Given the description of an element on the screen output the (x, y) to click on. 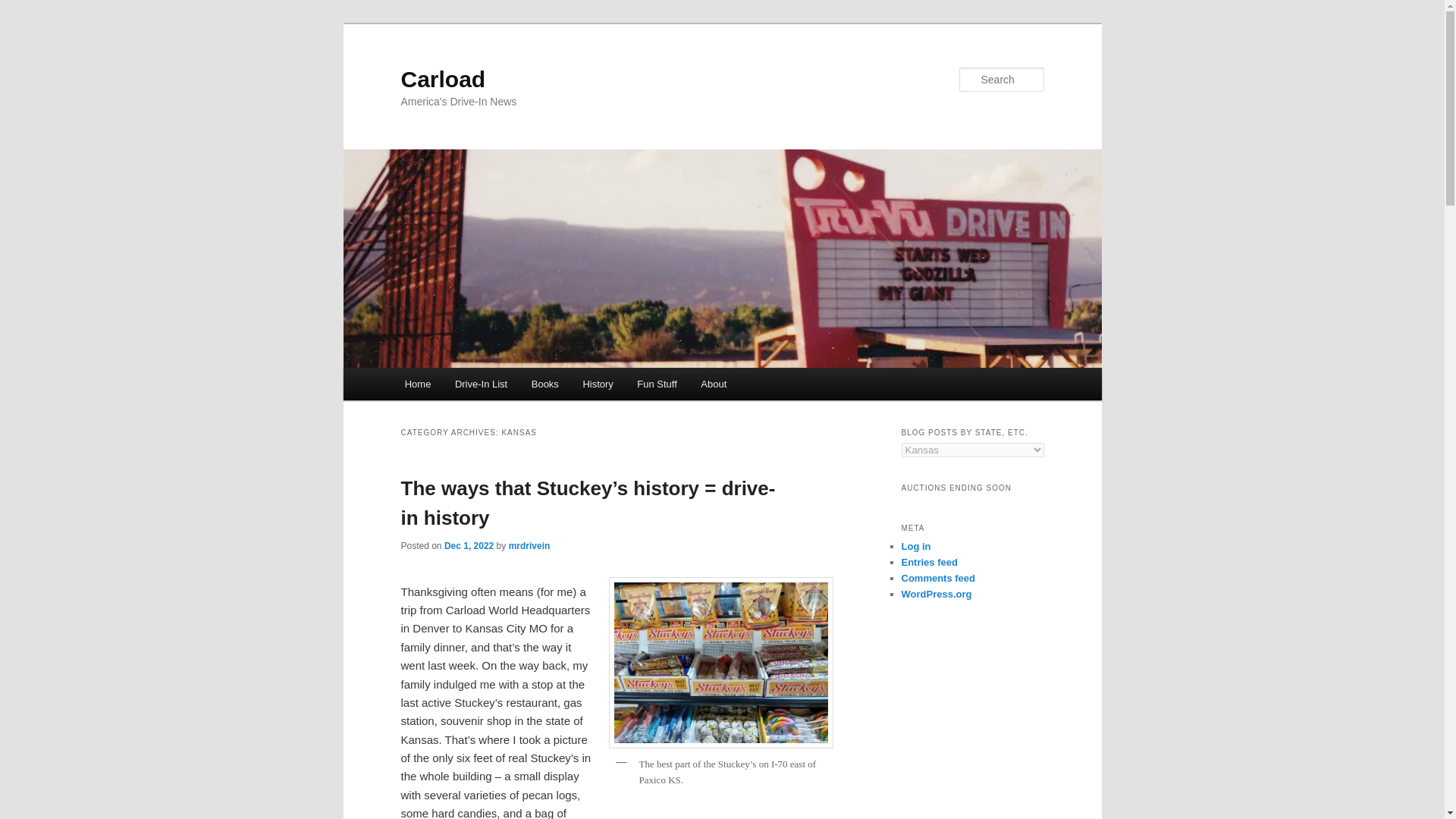
Drive-In List (480, 383)
Carload (442, 78)
History (598, 383)
View all posts by mrdrivein (529, 545)
Search (24, 8)
3:03 pm (468, 545)
Dec 1, 2022 (468, 545)
mrdrivein (529, 545)
About (713, 383)
Fun Stuff (657, 383)
Home (417, 383)
Books (544, 383)
